Given the description of an element on the screen output the (x, y) to click on. 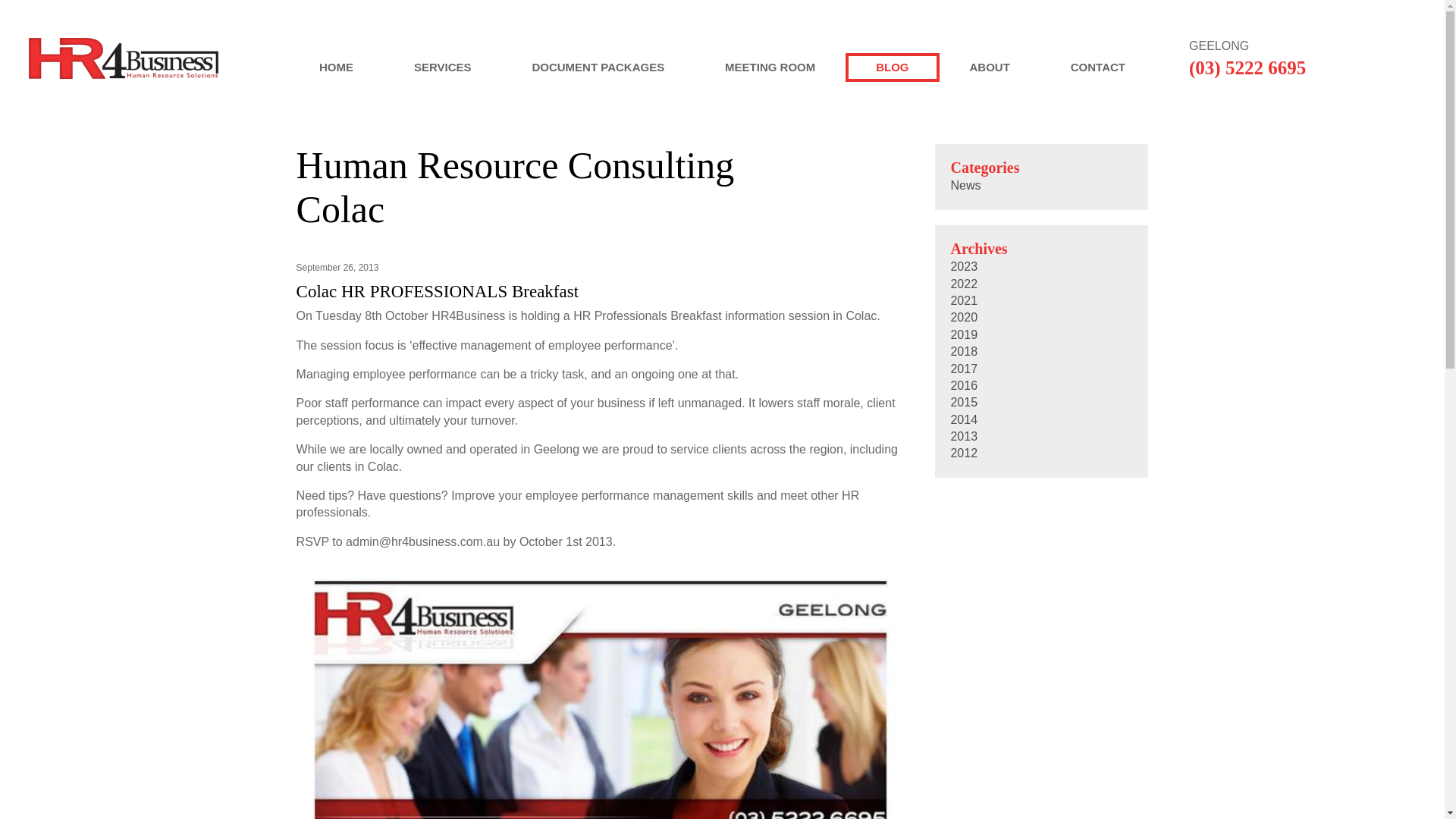
SERVICES (443, 67)
DOCUMENT PACKAGES (597, 67)
HOME (336, 67)
